Given the description of an element on the screen output the (x, y) to click on. 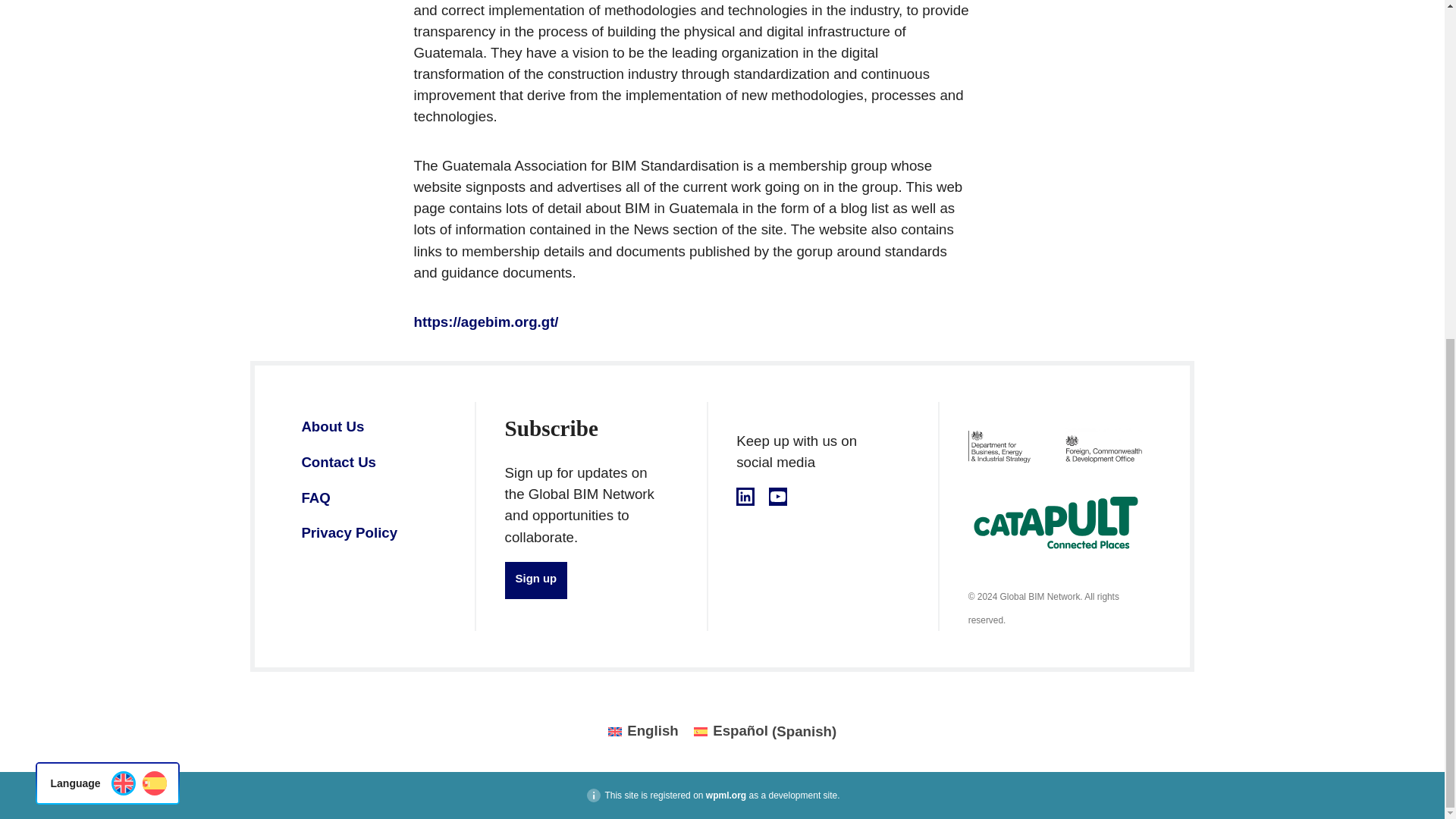
FAQ (315, 497)
Privacy Policy (349, 532)
About Us (332, 426)
Contact Us (338, 462)
